Given the description of an element on the screen output the (x, y) to click on. 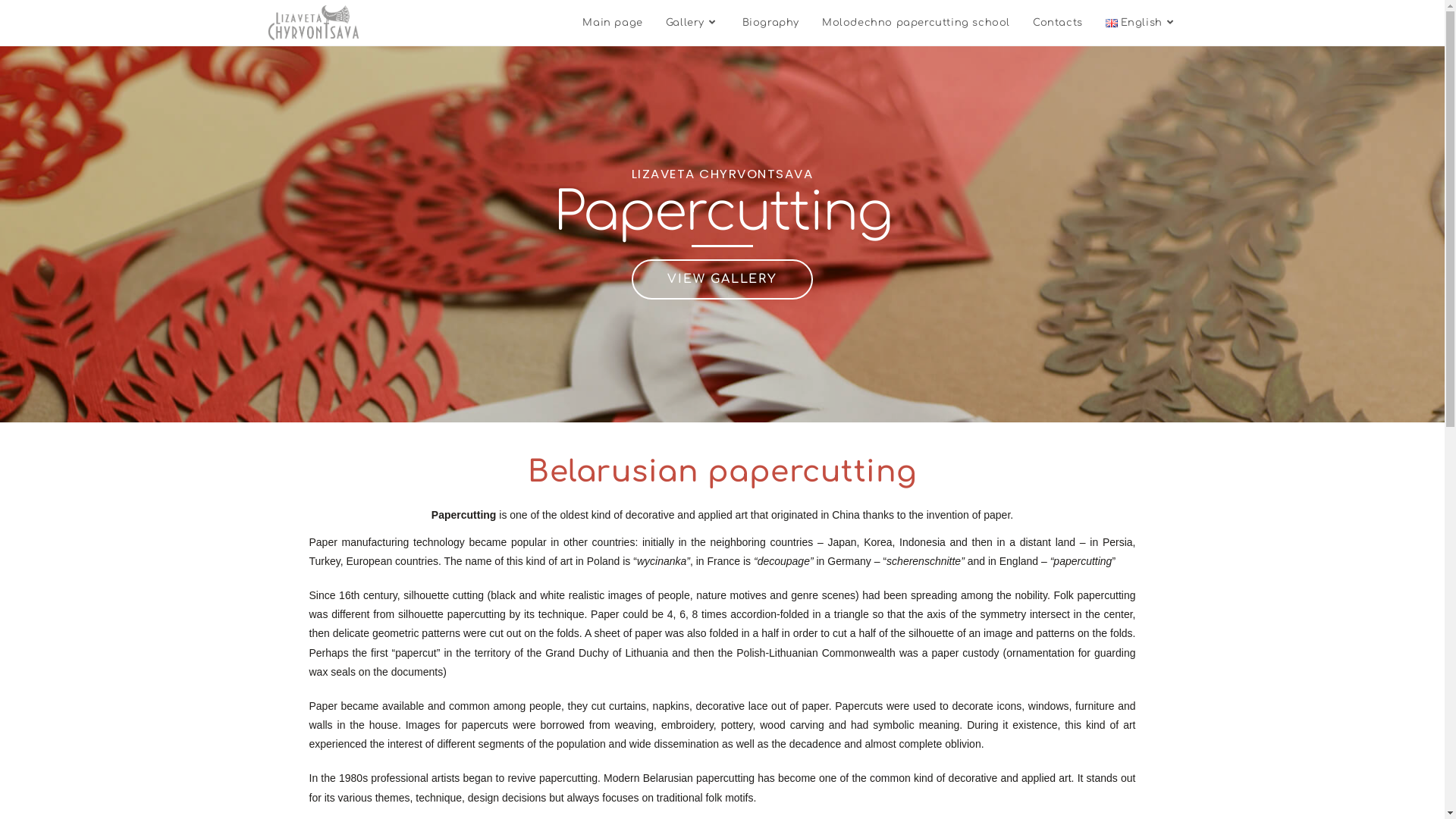
VIEW GALLERY Element type: text (721, 279)
Contacts Element type: text (1057, 22)
English Element type: text (1141, 22)
Molodechno papercutting school Element type: text (915, 22)
Biography Element type: text (770, 22)
Main page Element type: text (612, 22)
Gallery Element type: text (692, 22)
